Given the description of an element on the screen output the (x, y) to click on. 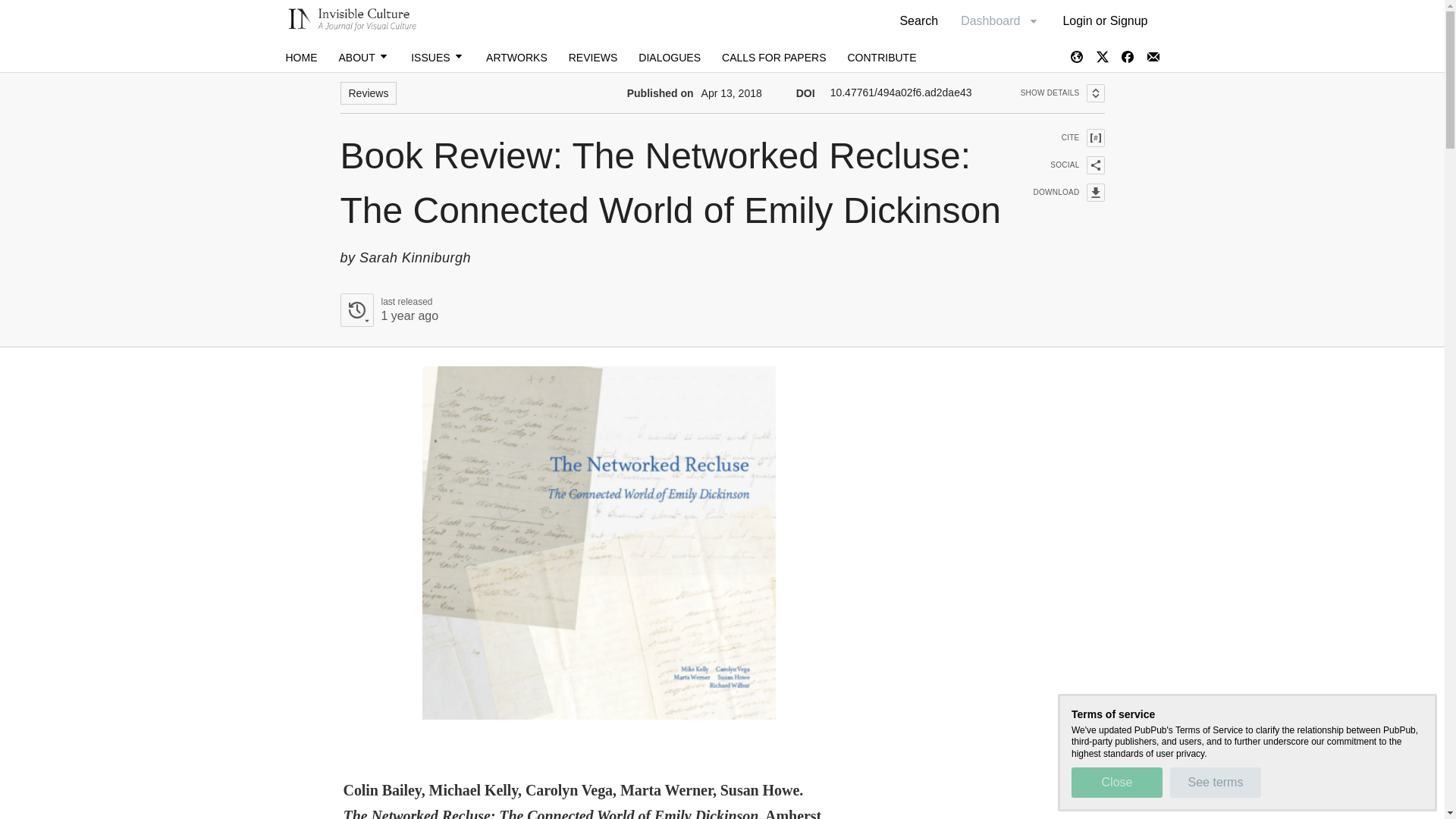
DIALOGUES (669, 57)
ARTWORKS (516, 57)
HOME (301, 57)
CONTRIBUTE (388, 309)
Close (881, 57)
DOWNLOAD (1116, 782)
SHOW DETAILS (1058, 192)
2023-03-20 22:42 (1062, 93)
